Given the description of an element on the screen output the (x, y) to click on. 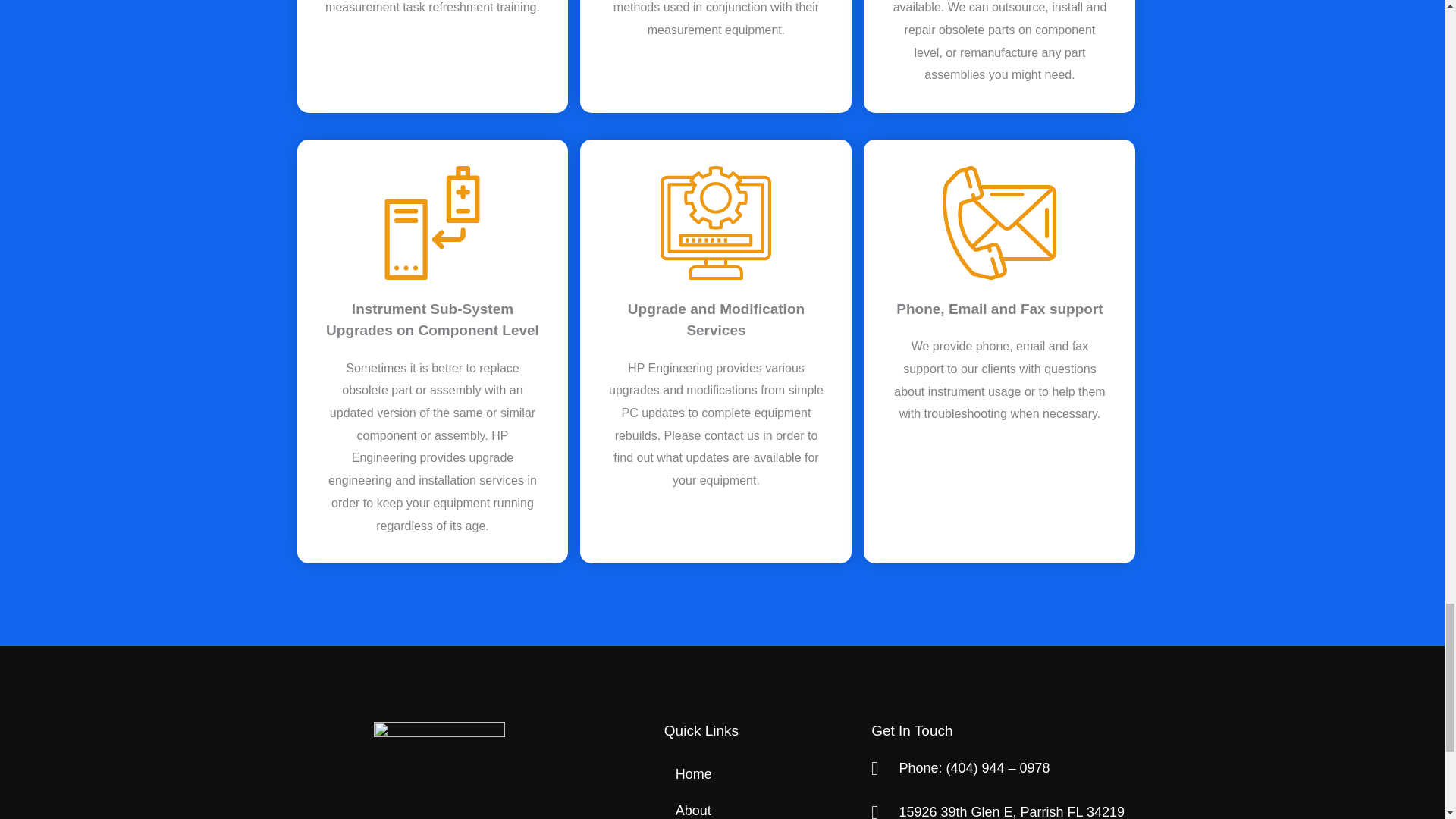
Home (759, 773)
About (759, 805)
